Given the description of an element on the screen output the (x, y) to click on. 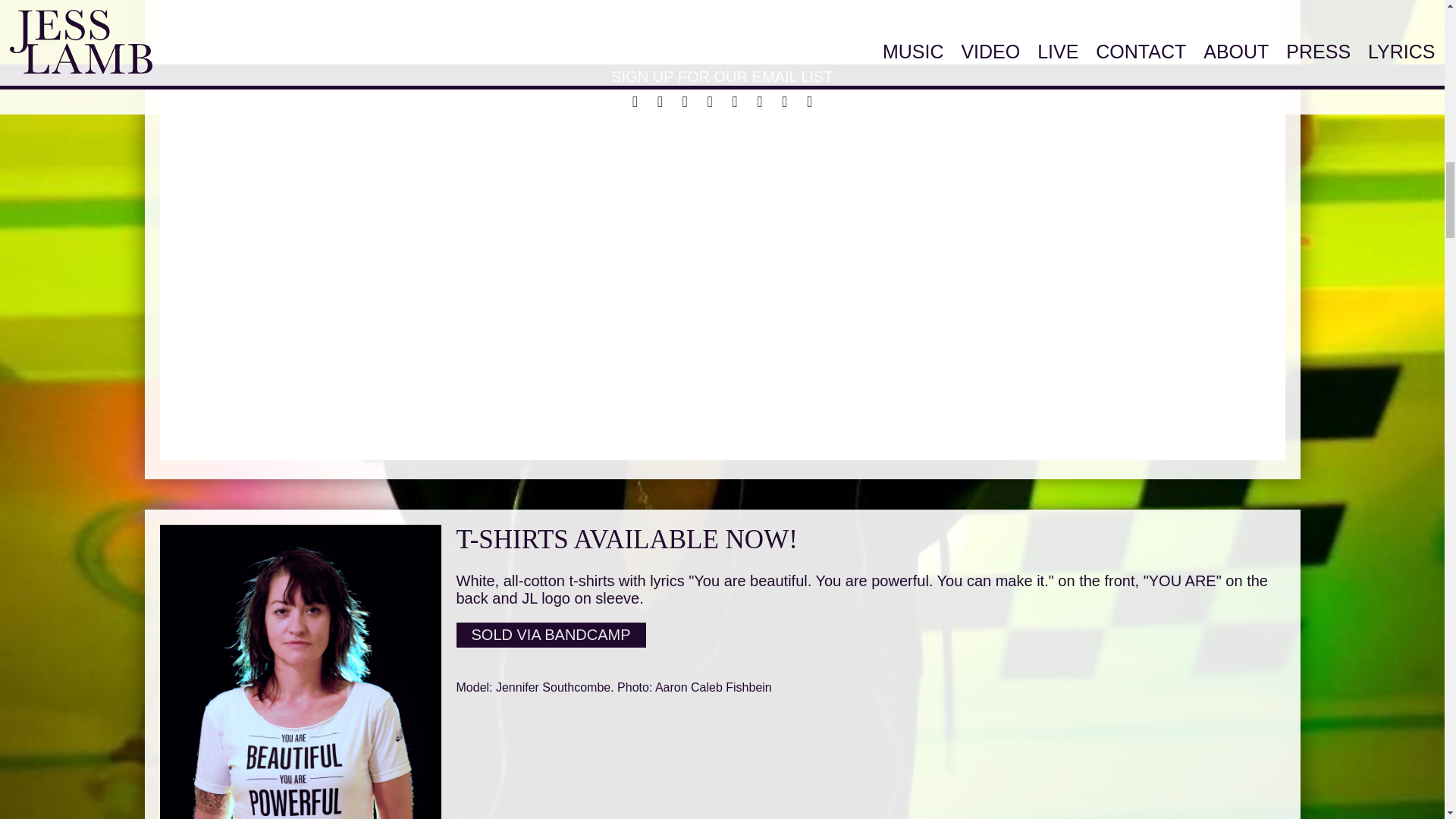
Aaron Caleb Fishbein (713, 686)
SOLD VIA BANDCAMP (551, 634)
Jennifer Southcombe (553, 686)
